Given the description of an element on the screen output the (x, y) to click on. 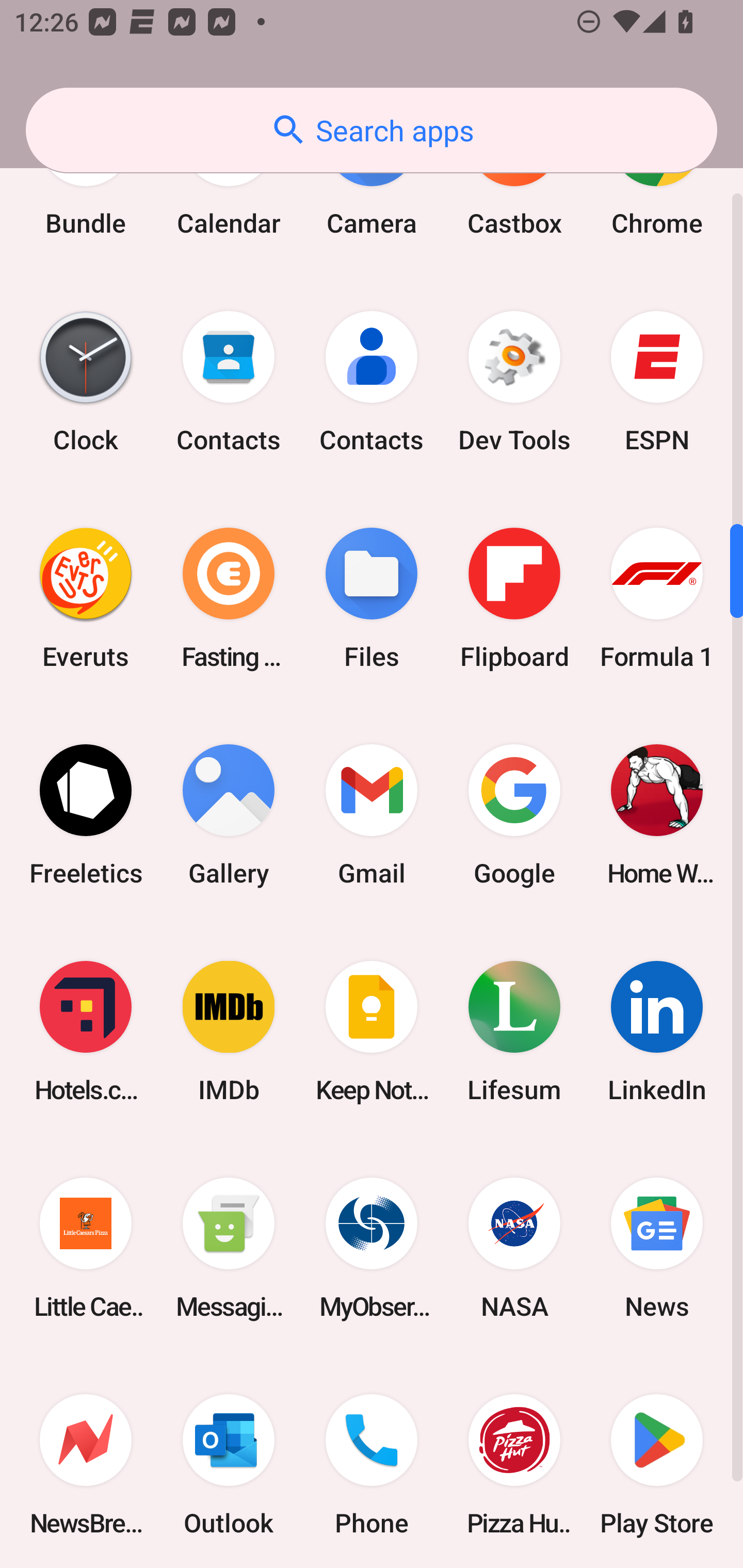
  Search apps (371, 130)
Clock (85, 380)
Contacts (228, 380)
Contacts (371, 380)
Dev Tools (514, 380)
ESPN (656, 380)
Everuts (85, 598)
Fasting Coach (228, 598)
Files (371, 598)
Flipboard (514, 598)
Formula 1 (656, 598)
Freeletics (85, 815)
Gallery (228, 815)
Gmail (371, 815)
Google (514, 815)
Home Workout (656, 815)
Hotels.com (85, 1031)
IMDb (228, 1031)
Keep Notes (371, 1031)
Lifesum (514, 1031)
LinkedIn (656, 1031)
Little Caesars Pizza (85, 1247)
Messaging (228, 1247)
MyObservatory (371, 1247)
NASA (514, 1247)
News (656, 1247)
NewsBreak (85, 1462)
Outlook (228, 1462)
Phone (371, 1462)
Pizza Hut HK & Macau (514, 1462)
Play Store (656, 1462)
